Given the description of an element on the screen output the (x, y) to click on. 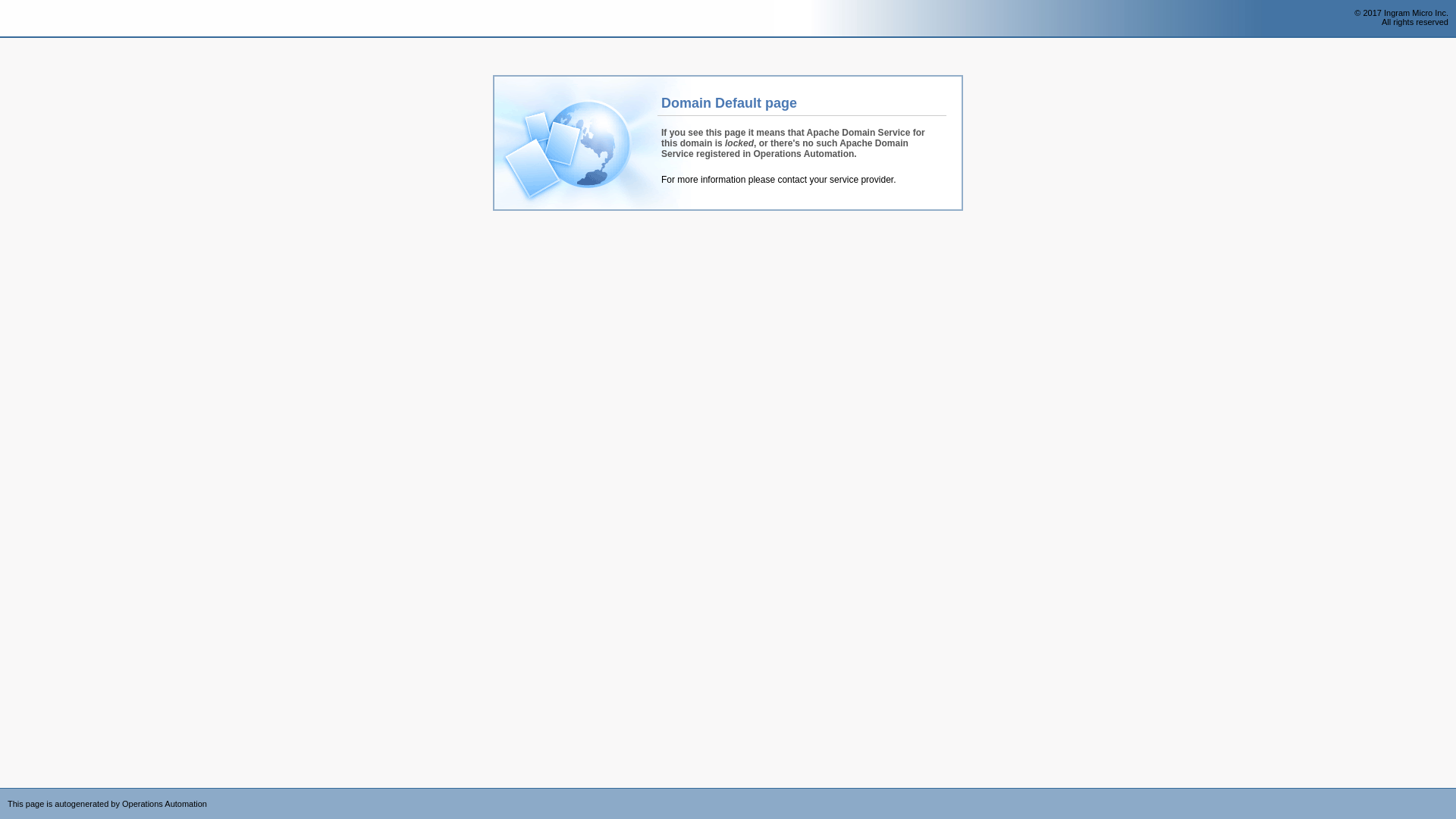
Powered by CloudBlue Commerce Element type: hover (1447, 792)
Operations Automation Element type: text (39, 18)
